Given the description of an element on the screen output the (x, y) to click on. 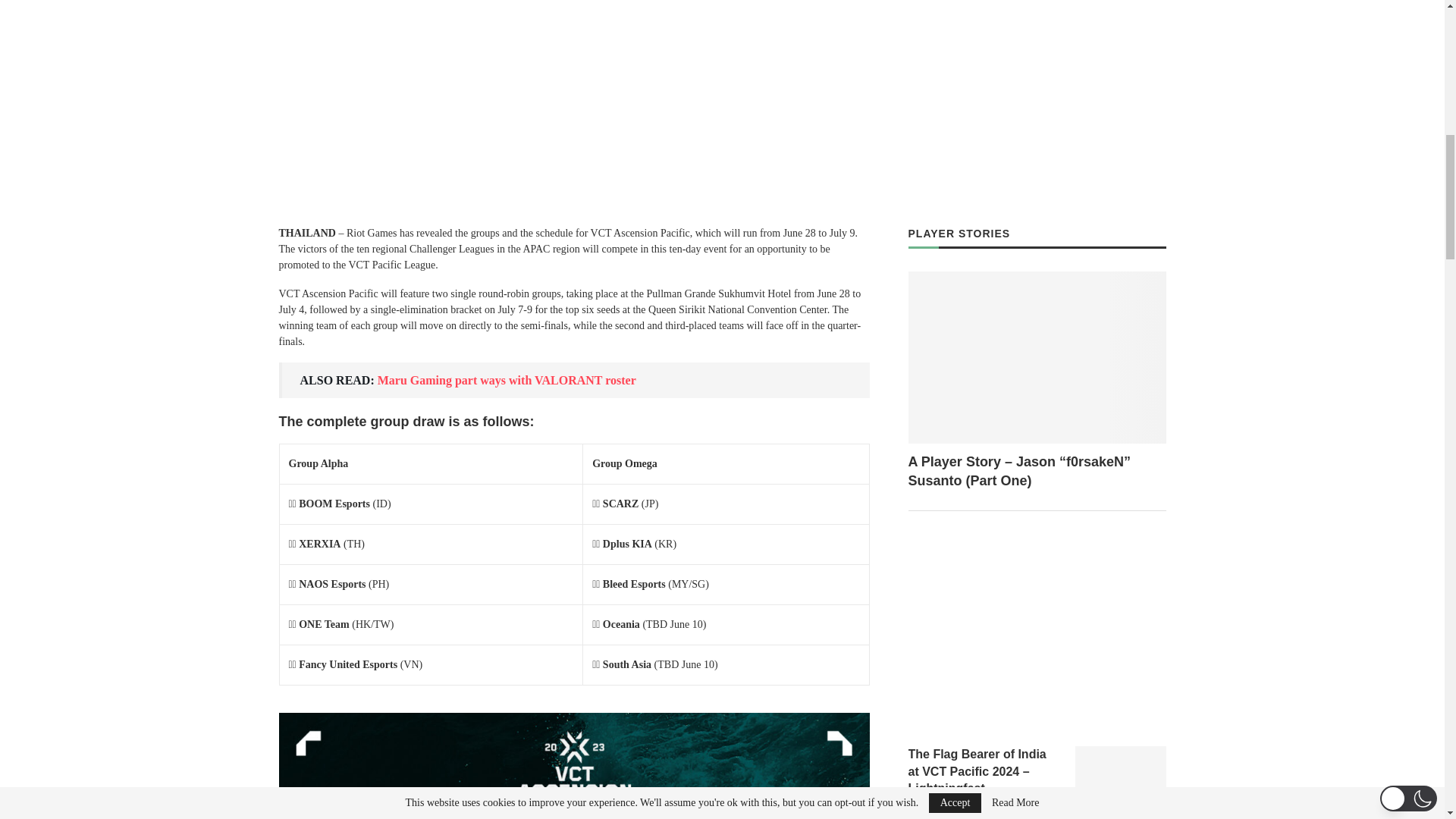
Advertisement (574, 119)
Advertisement (1021, 89)
Advertisement (1037, 632)
